Given the description of an element on the screen output the (x, y) to click on. 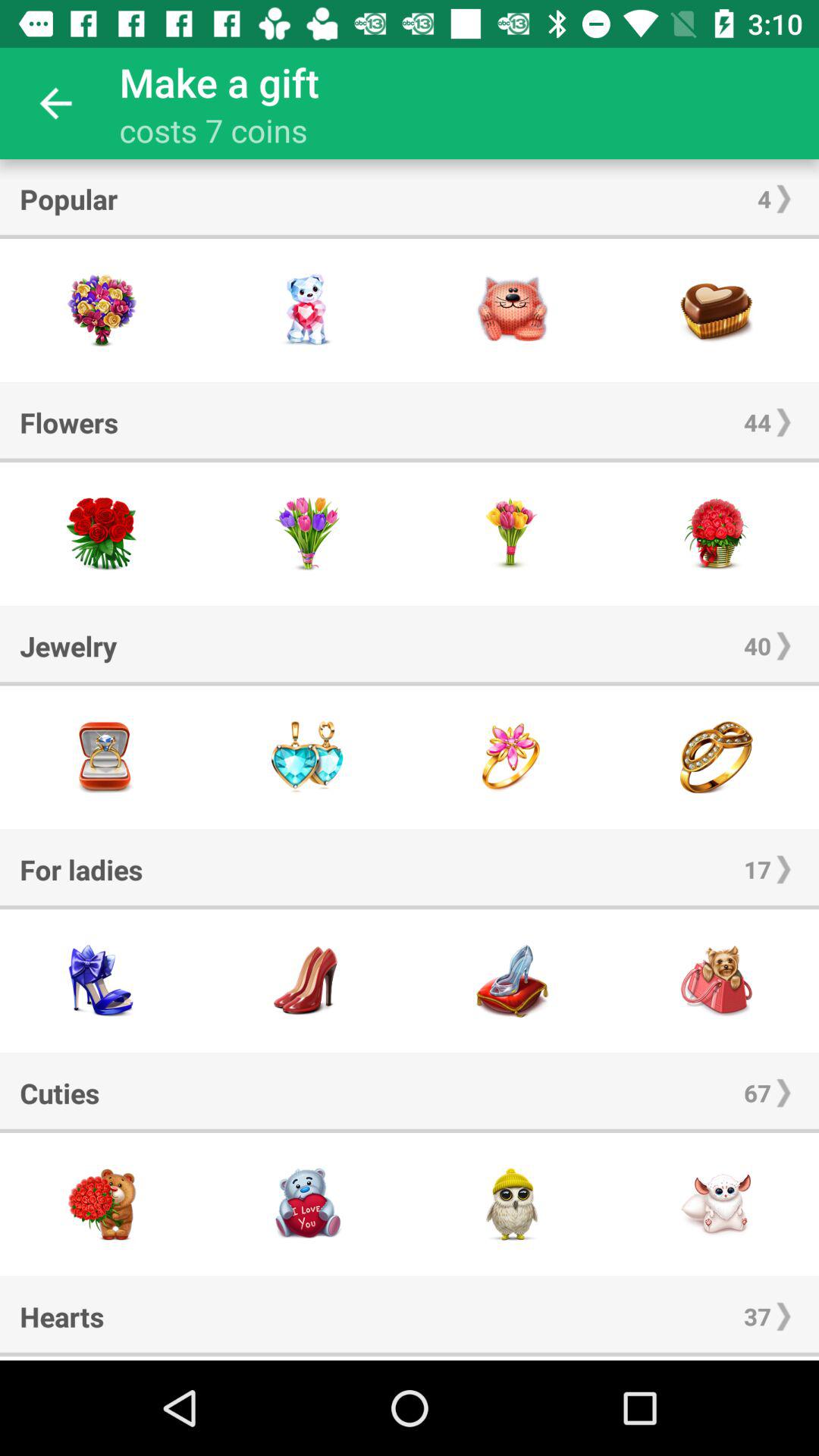
turn off item next to flowers icon (783, 422)
